Given the description of an element on the screen output the (x, y) to click on. 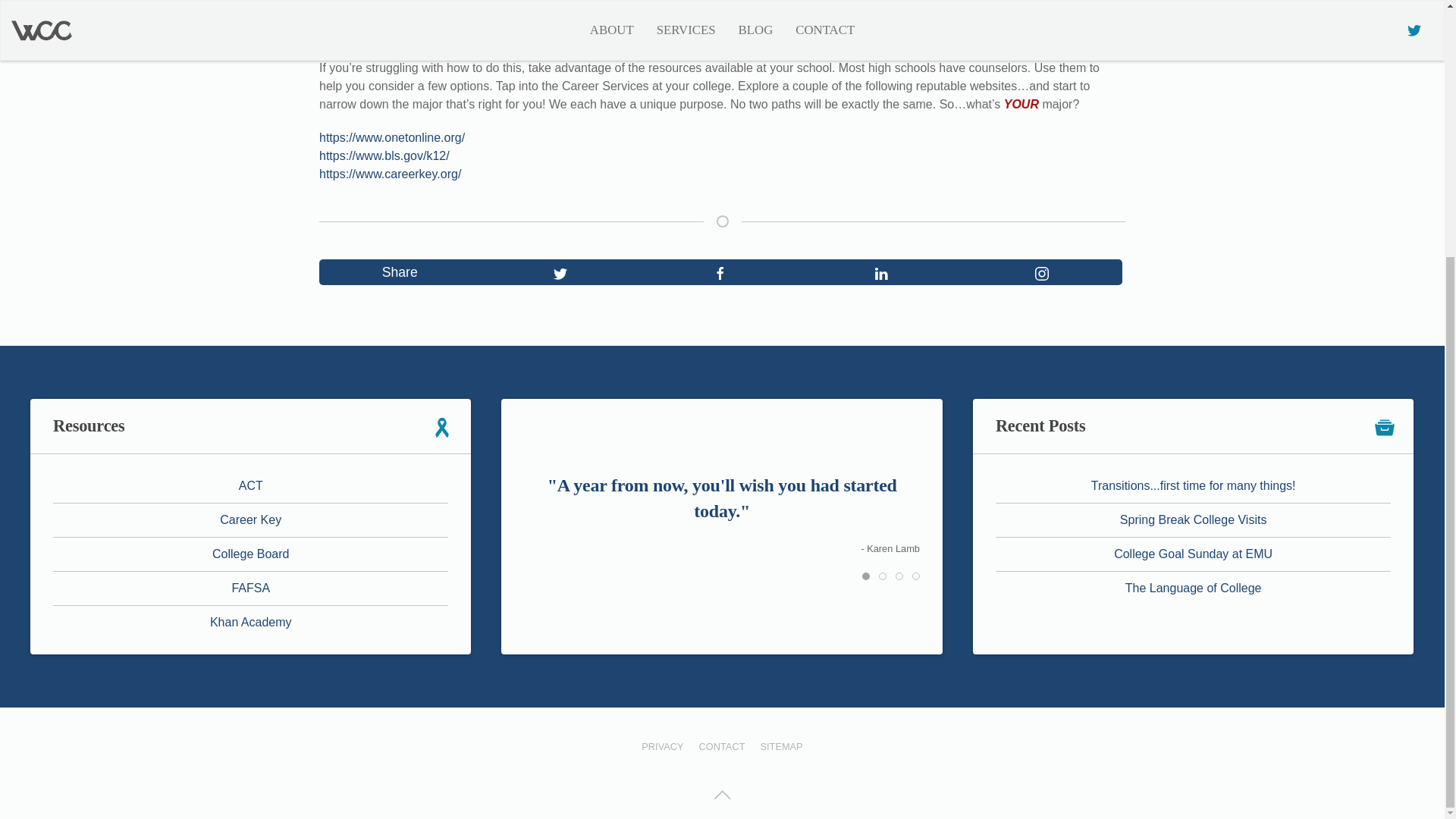
CONTACT (721, 746)
ACT (250, 485)
PRIVACY (662, 746)
The Language of College (1193, 587)
Learn almost anything for free. (250, 621)
College Goal Sunday at EMU (1192, 553)
Sitemap (781, 746)
SITEMAP (781, 746)
Khan Academy (250, 621)
FAFSA (250, 587)
